Given the description of an element on the screen output the (x, y) to click on. 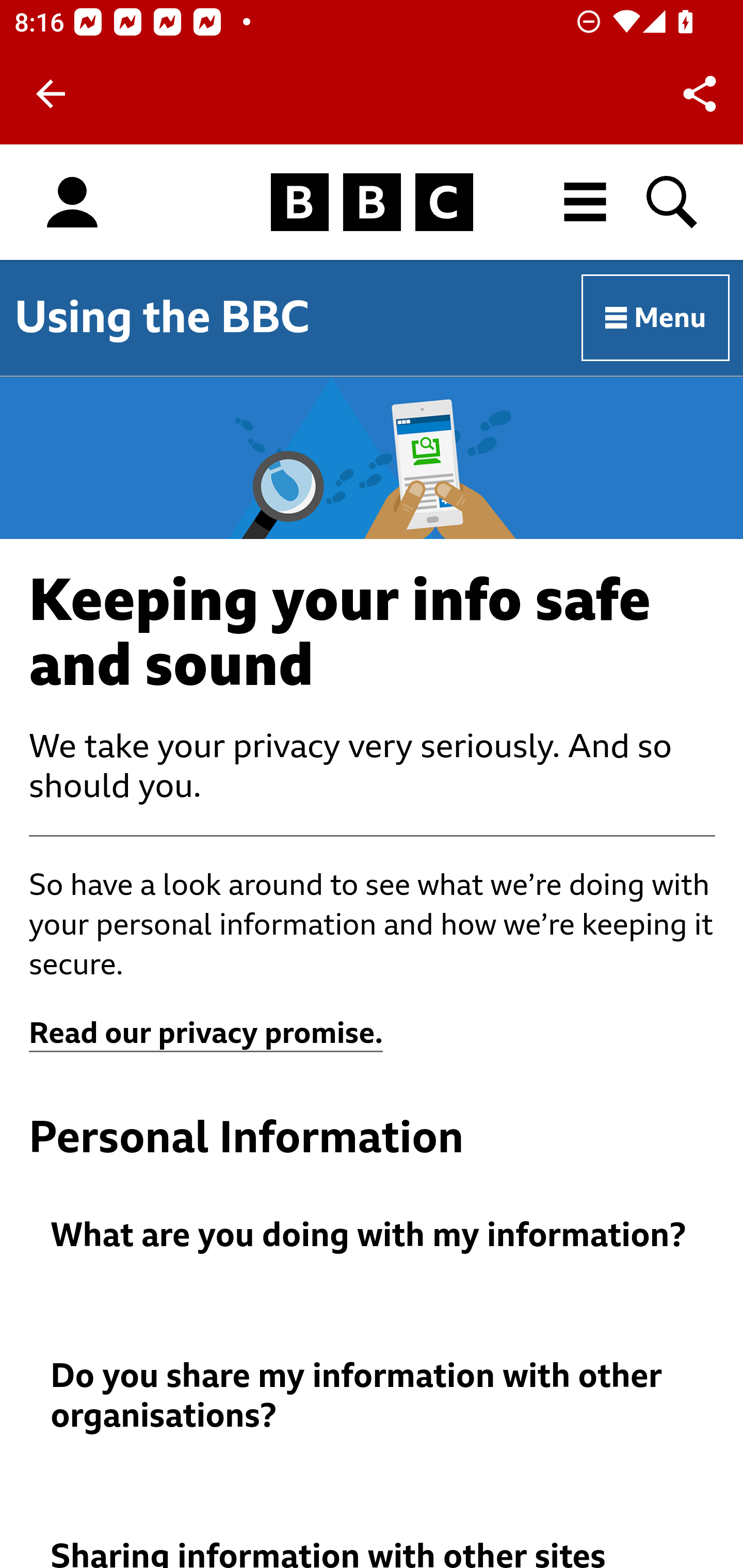
Back (50, 93)
Share (699, 93)
All BBC destinations menu (585, 202)
Search BBC (672, 202)
Sign in (71, 203)
Homepage (371, 203)
Menu (656, 318)
Using the BBC (162, 317)
Read our privacy promise. (206, 1034)
What are you doing with my information? (372, 1235)
Sharing information with other sites (372, 1552)
